Given the description of an element on the screen output the (x, y) to click on. 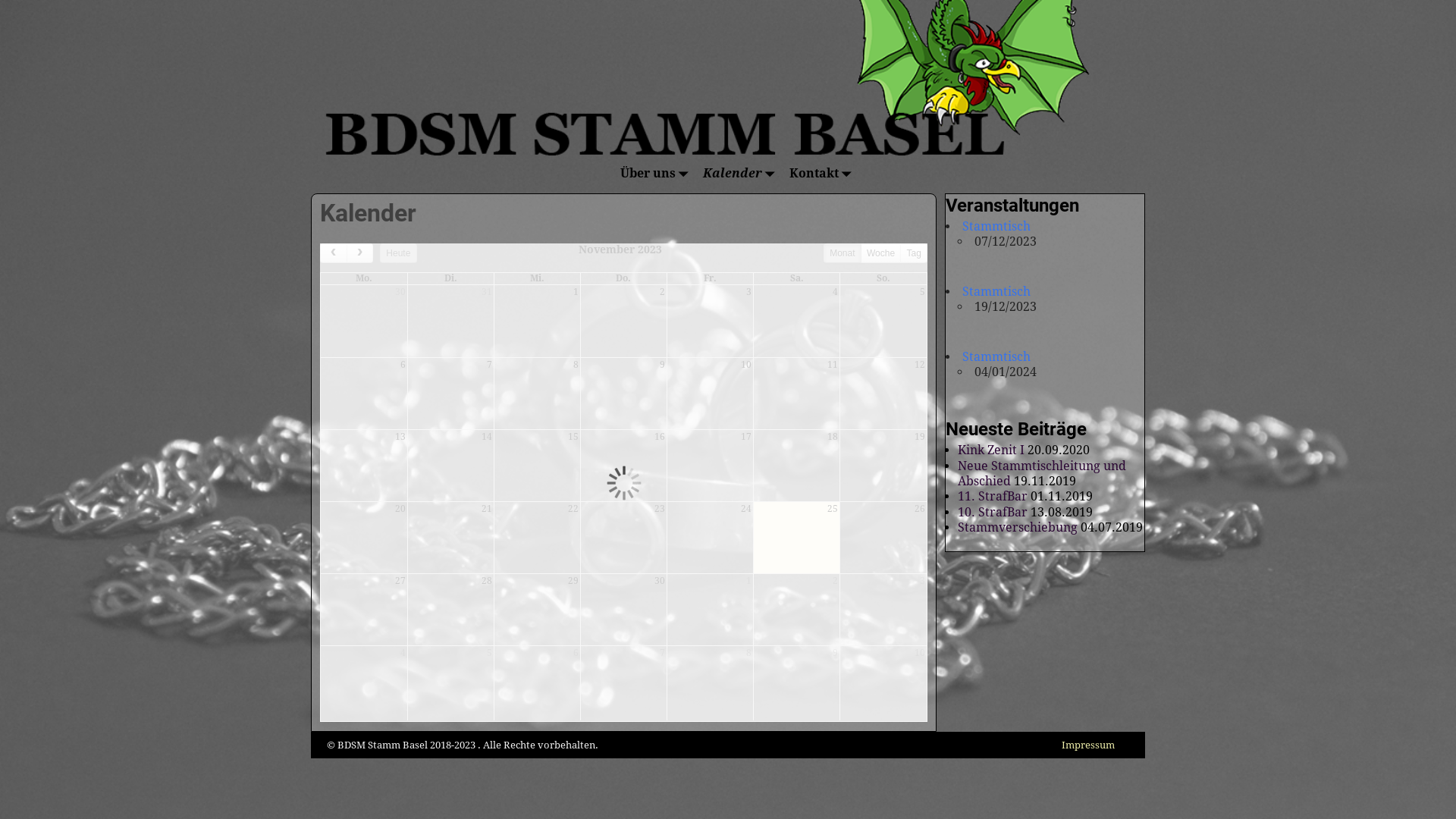
Stammtisch Element type: text (996, 291)
Stammverschiebung Element type: text (1017, 527)
Heute Element type: text (397, 252)
Stammtisch Element type: text (996, 356)
Woche Element type: text (880, 252)
Neue Stammtischleitung und Abschied Element type: text (1041, 473)
Stammtisch Element type: text (996, 226)
Kontakt Element type: text (818, 173)
Kalender Element type: text (736, 173)
Kink Zenit I Element type: text (990, 449)
Impressum Element type: text (1087, 744)
Tag Element type: text (913, 252)
Monat Element type: text (842, 252)
10. StrafBar Element type: text (992, 512)
11. StrafBar Element type: text (992, 496)
